Given the description of an element on the screen output the (x, y) to click on. 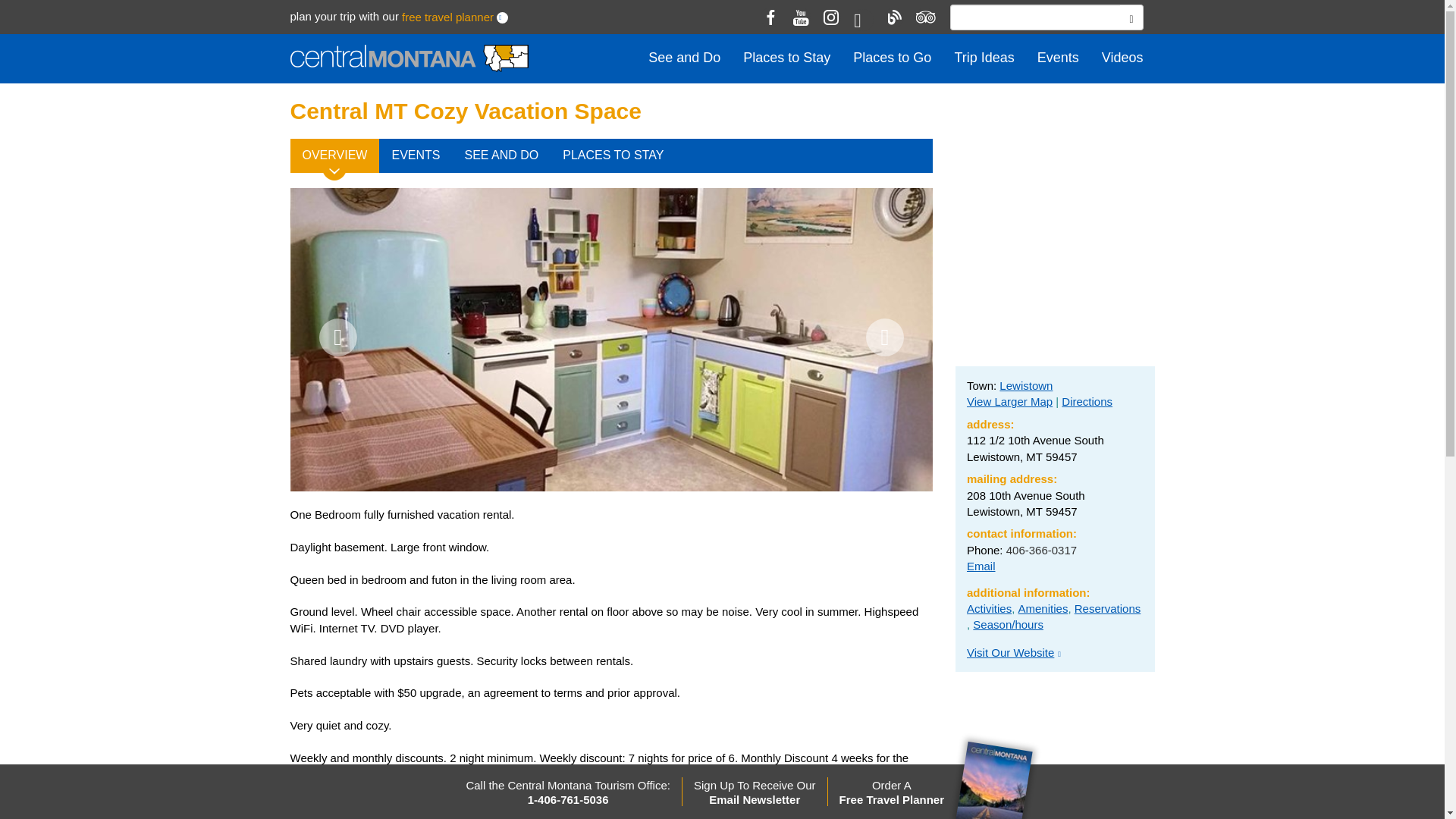
Central Montana Blog (893, 17)
View us on YouTube (800, 17)
See and Do (684, 57)
free travel planner (447, 16)
Order Travel Planner (447, 16)
Like us on Facebook (770, 17)
Central Montana (408, 58)
Follow us on Twitter (862, 20)
TripAdvisor Central Montana (924, 17)
Pin us on Instagram (831, 17)
Order Travel Planner (502, 17)
